Given the description of an element on the screen output the (x, y) to click on. 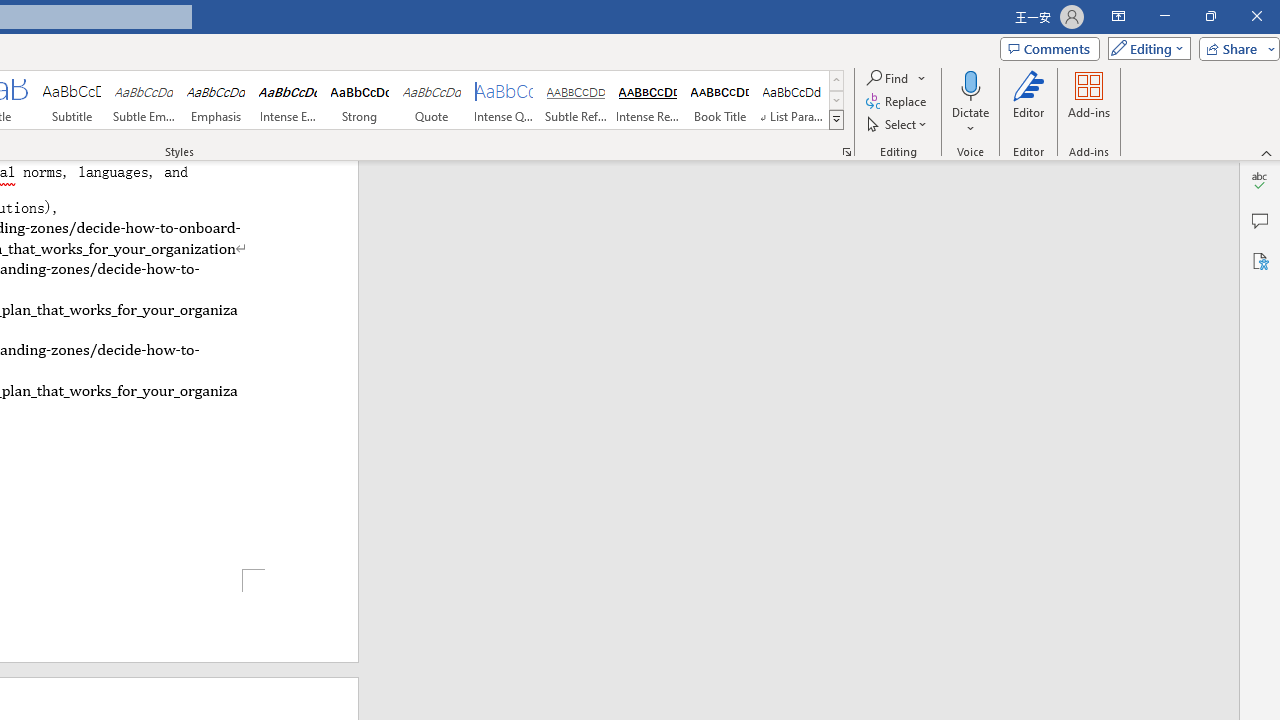
Editing (1144, 47)
Intense Emphasis (287, 100)
Emphasis (216, 100)
Quote (431, 100)
Strong (359, 100)
